Given the description of an element on the screen output the (x, y) to click on. 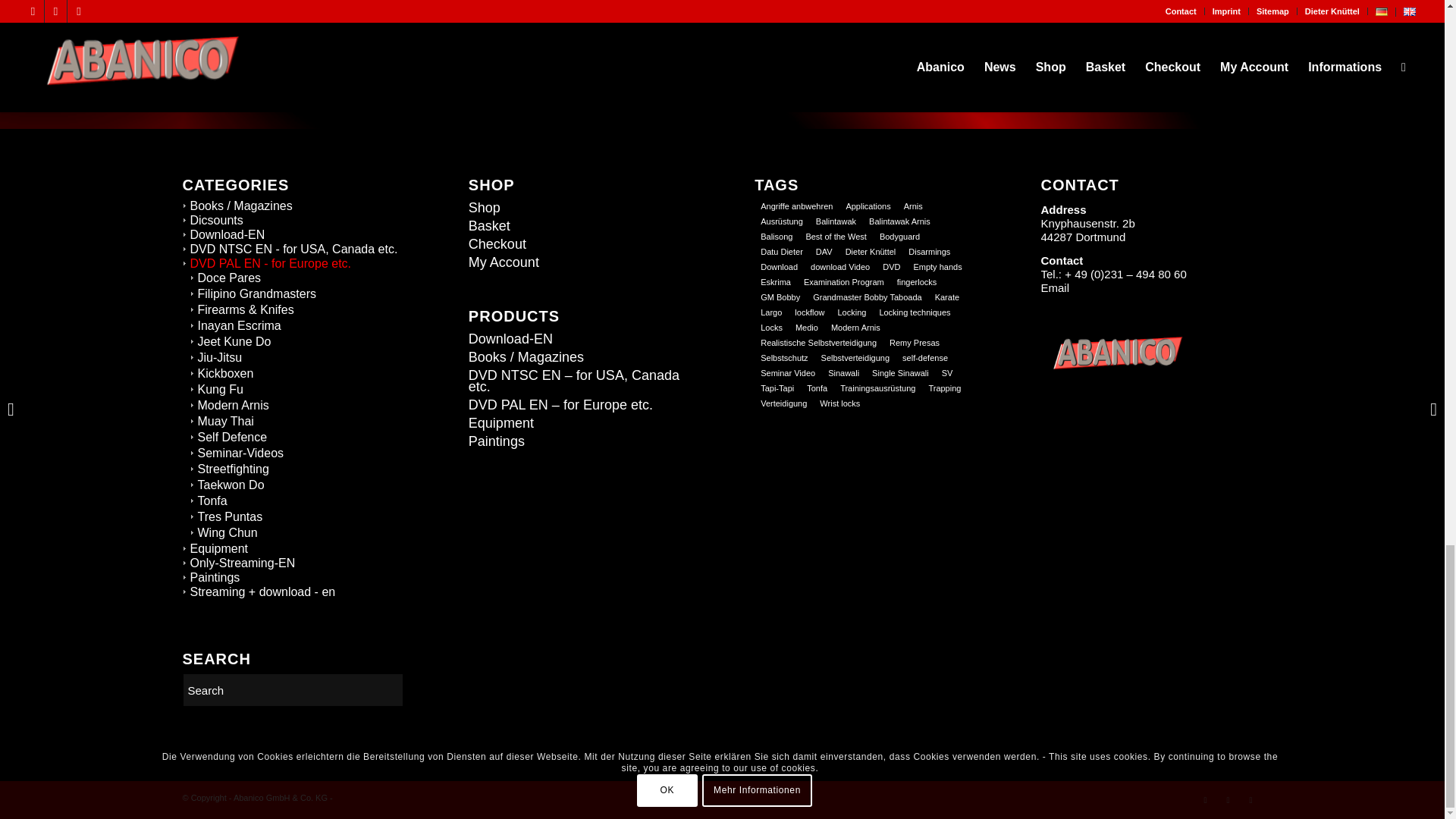
Facebook (1204, 799)
Flickr (1250, 799)
Youtube (1227, 799)
